Given the description of an element on the screen output the (x, y) to click on. 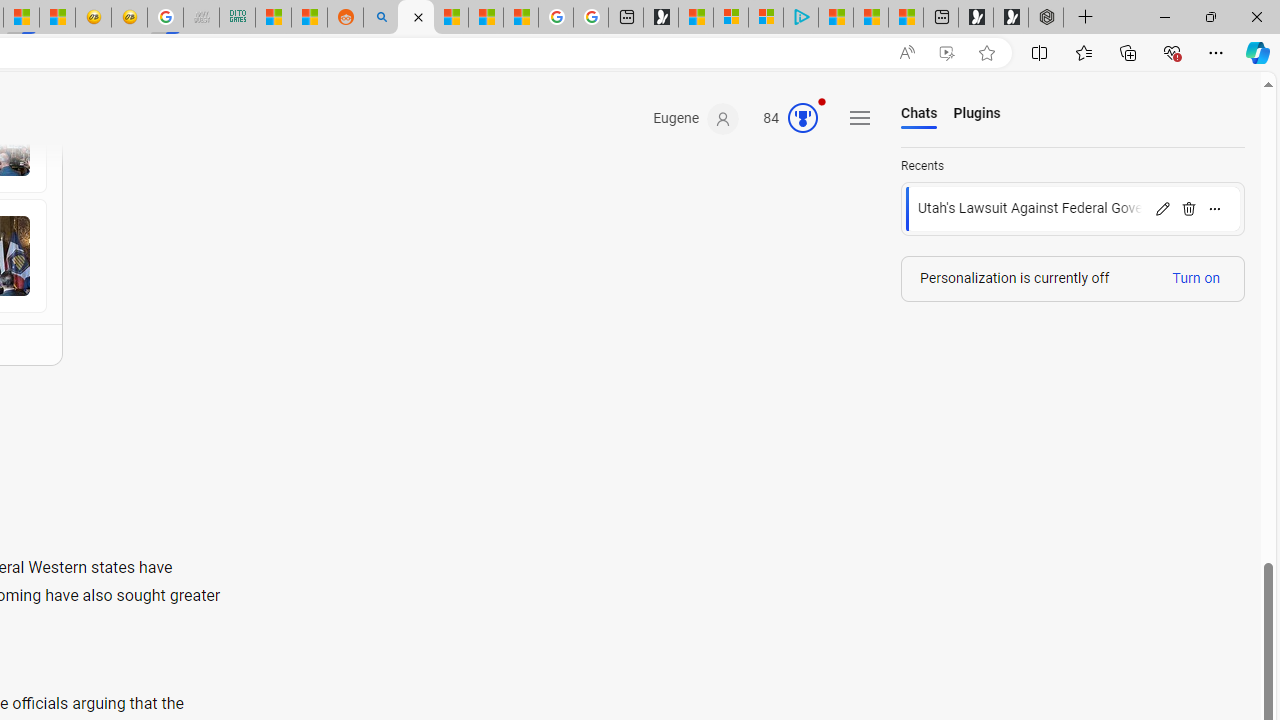
Settings and quick links (859, 117)
Enhance video (946, 53)
Eugene (695, 119)
